Given the description of an element on the screen output the (x, y) to click on. 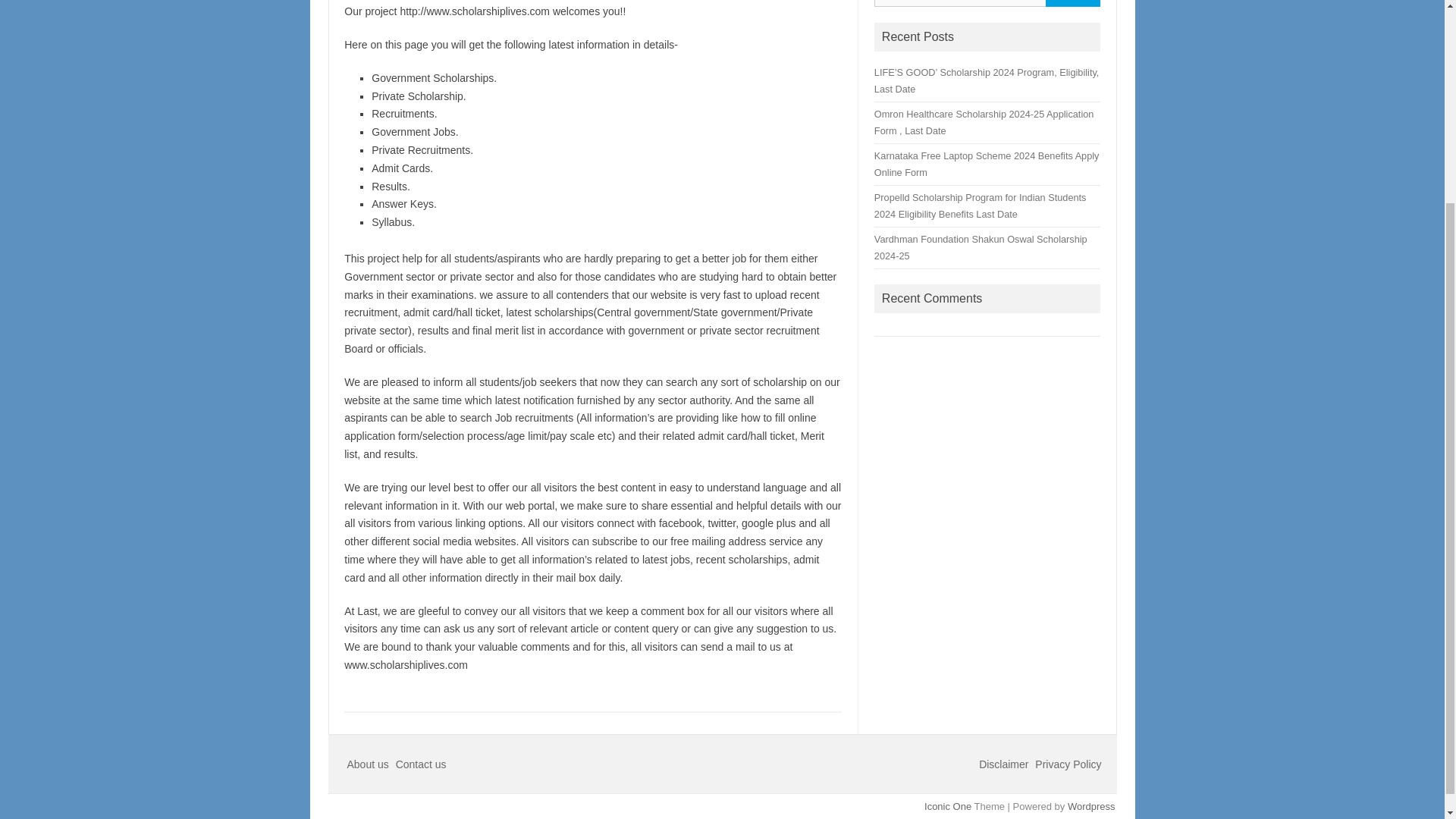
Search (1072, 3)
Wordpress (1091, 806)
Vardhman Foundation Shakun Oswal Scholarship 2024-25 (981, 247)
Privacy Policy (1067, 764)
Contact us (421, 764)
Karnataka Free Laptop Scheme 2024 Benefits Apply Online Form (987, 163)
Disclaimer (1004, 764)
About us (369, 764)
Iconic One (947, 806)
Search (1072, 3)
